Given the description of an element on the screen output the (x, y) to click on. 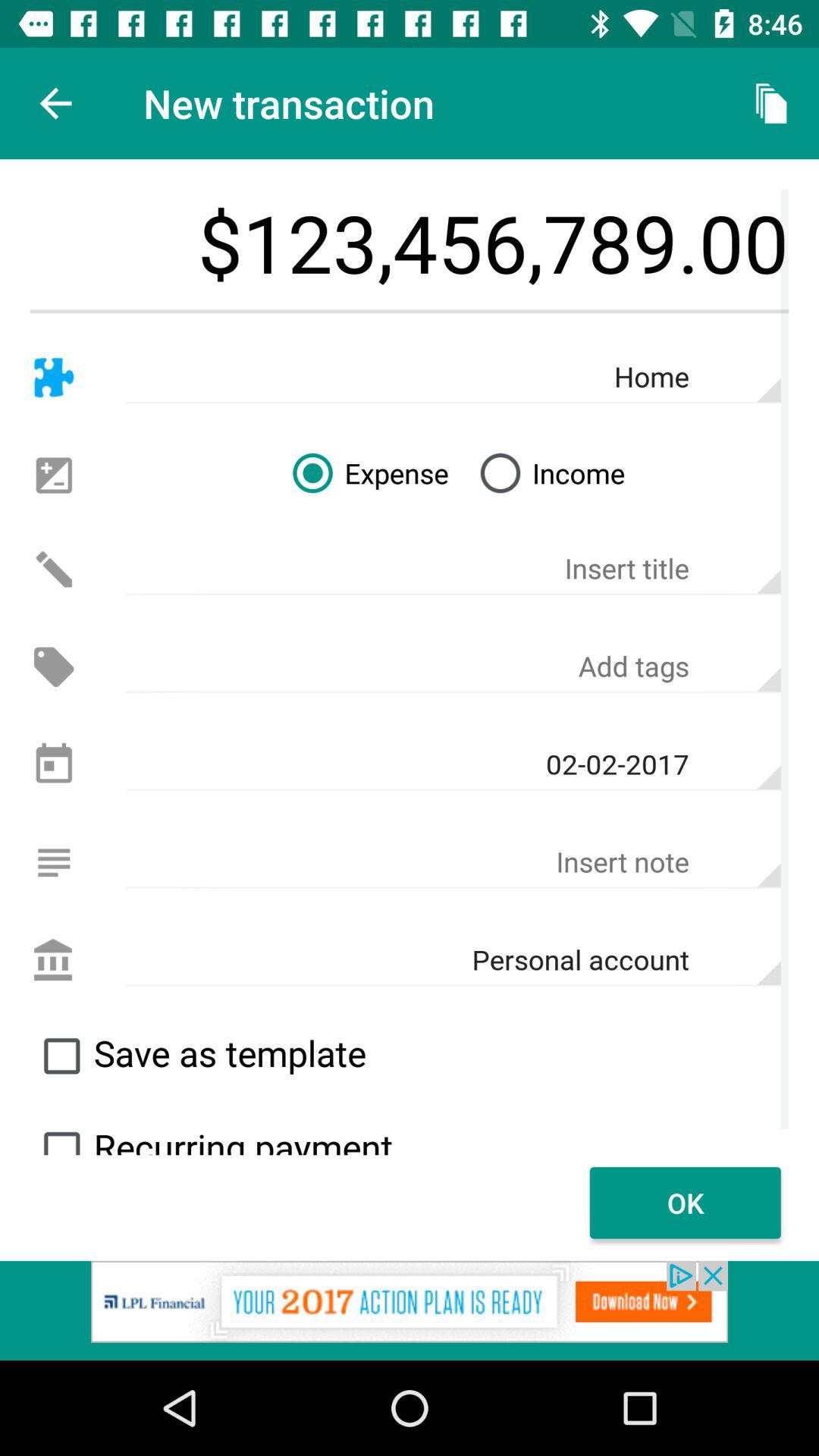
go to adjustment (53, 475)
